Given the description of an element on the screen output the (x, y) to click on. 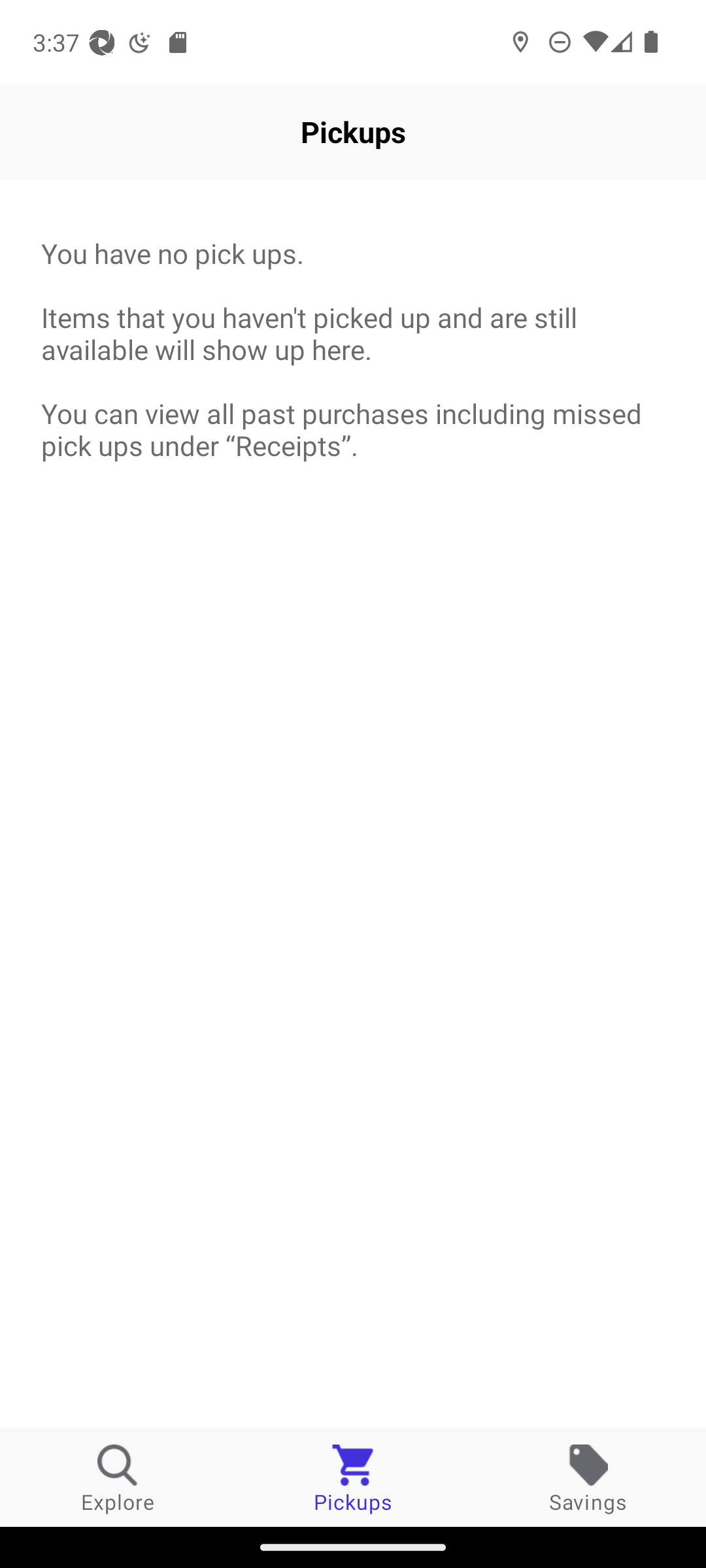
Explore (117, 1478)
Savings (588, 1478)
